Given the description of an element on the screen output the (x, y) to click on. 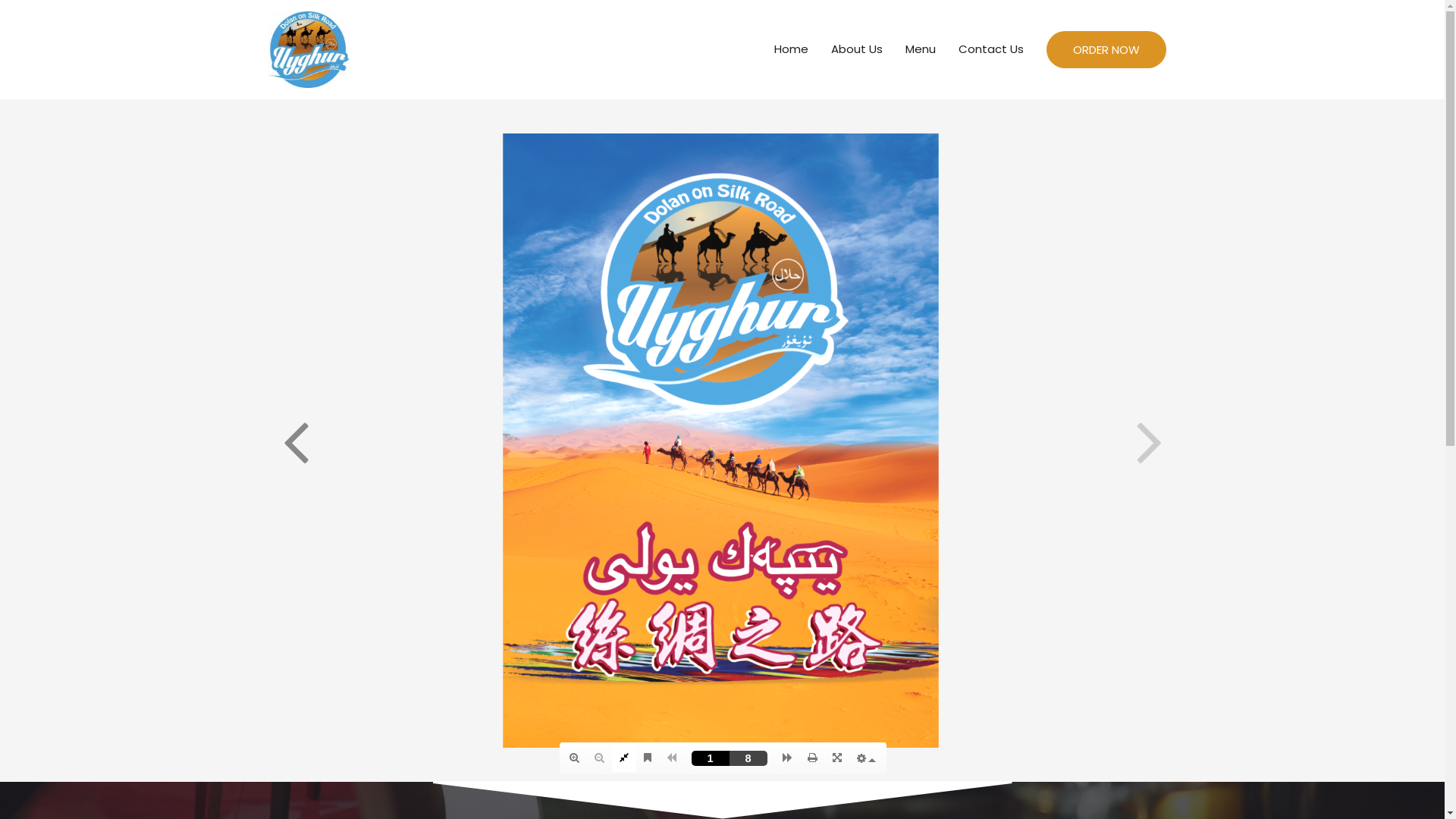
About Us Element type: text (856, 49)
Menu Element type: text (919, 49)
Home Element type: text (790, 49)
Contact Us Element type: text (990, 49)
ORDER NOW Element type: text (1106, 49)
